Given the description of an element on the screen output the (x, y) to click on. 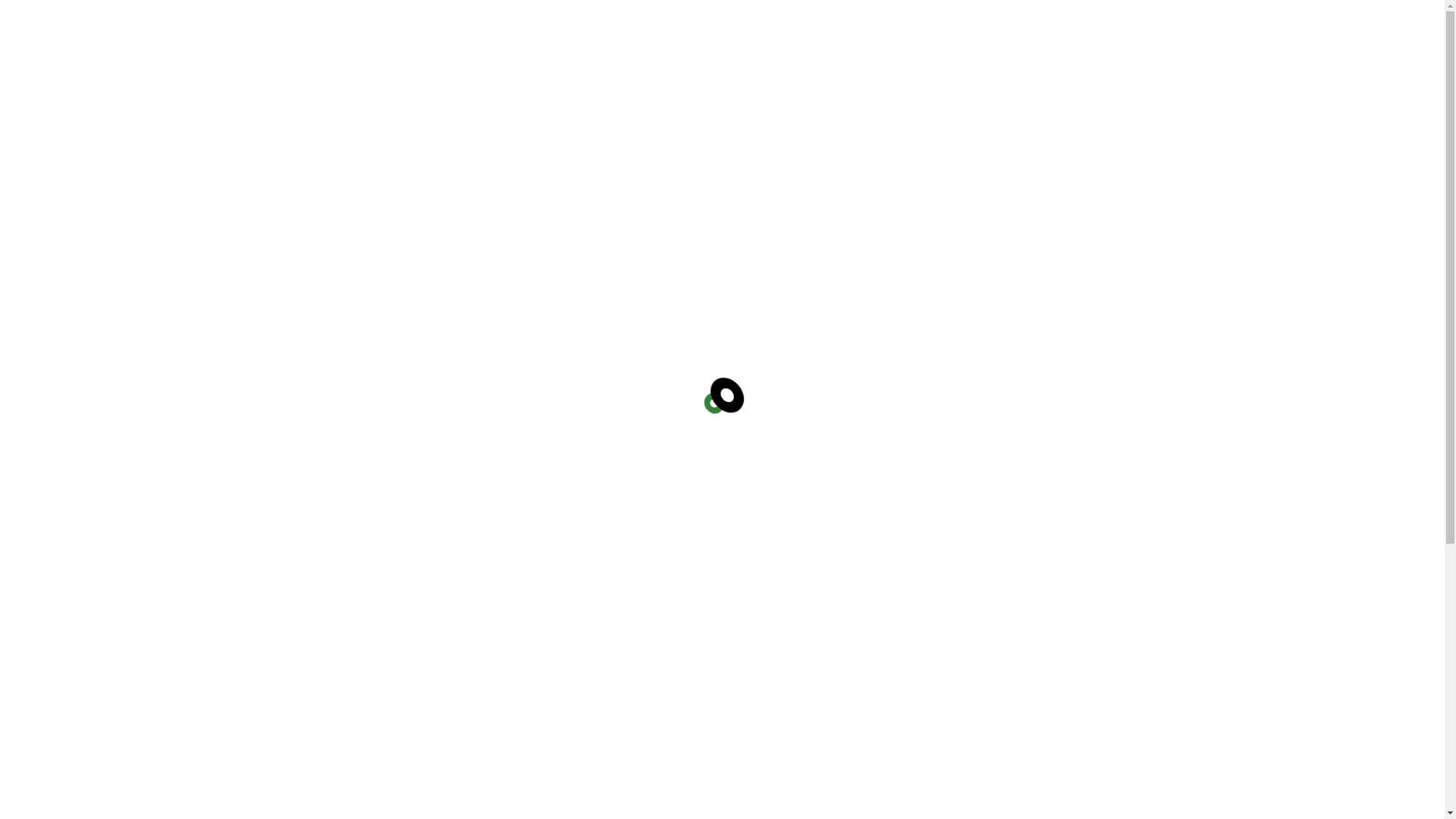
EW3CN Element type: text (1181, 17)
